Given the description of an element on the screen output the (x, y) to click on. 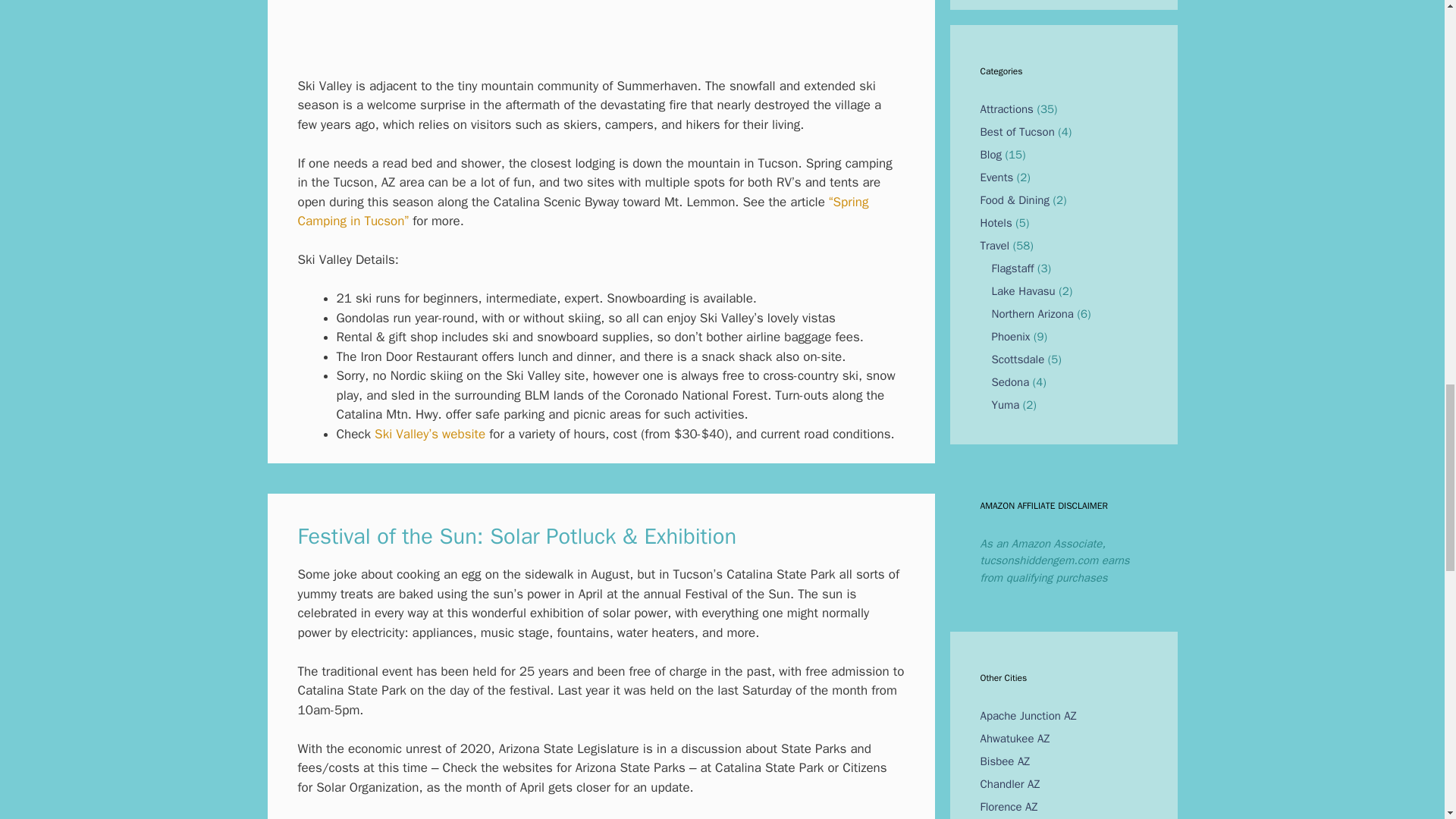
Skiing Mt. Lemmon spring 2019 (600, 25)
